Given the description of an element on the screen output the (x, y) to click on. 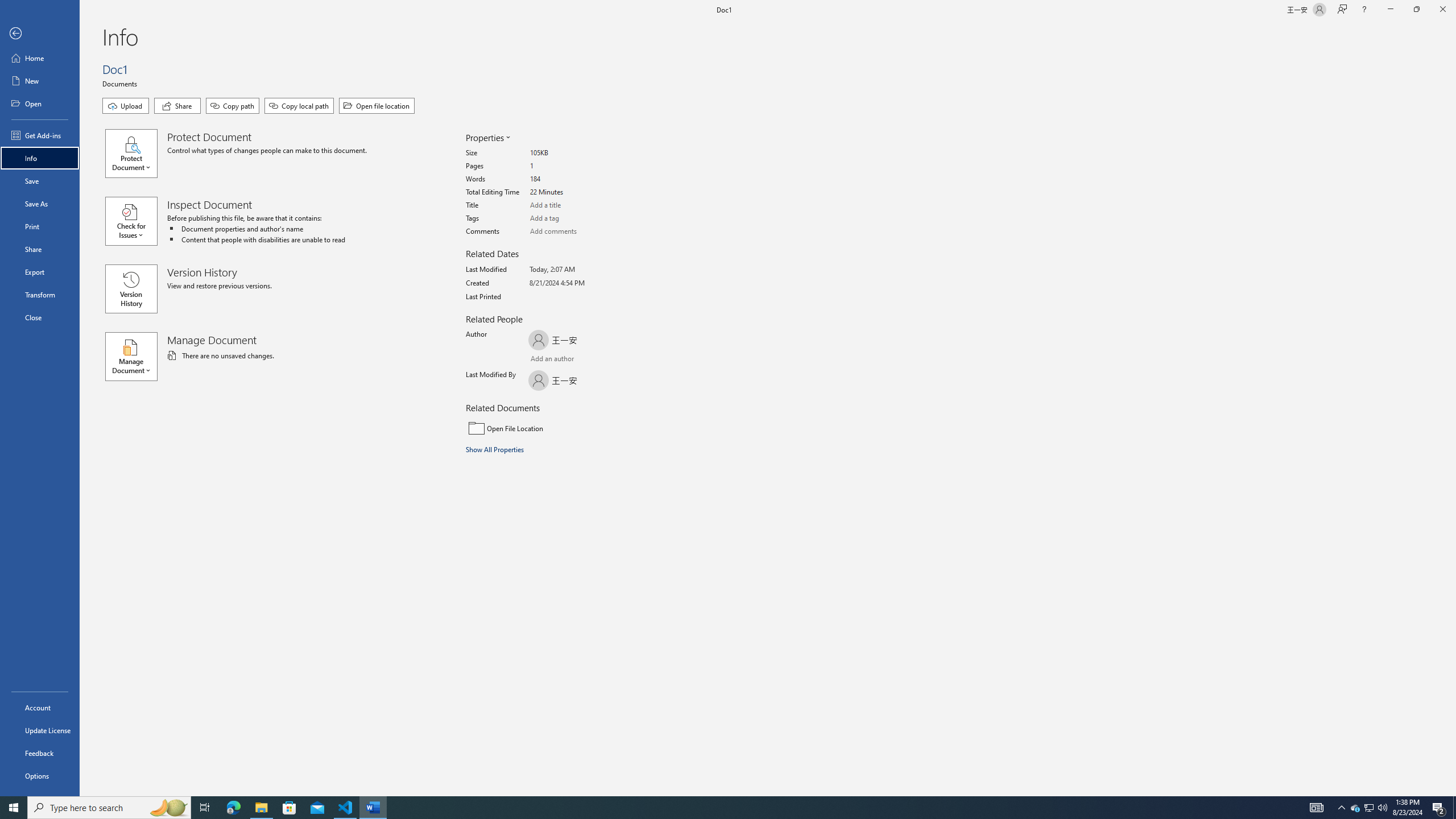
Save As (40, 203)
Account (40, 707)
Verify Names (559, 359)
New (40, 80)
Print (40, 225)
Check for Issues (135, 220)
Info (40, 157)
Add an author (540, 359)
Export (40, 271)
Open File Location (541, 427)
Total Editing Time (572, 192)
Words (572, 179)
